Given the description of an element on the screen output the (x, y) to click on. 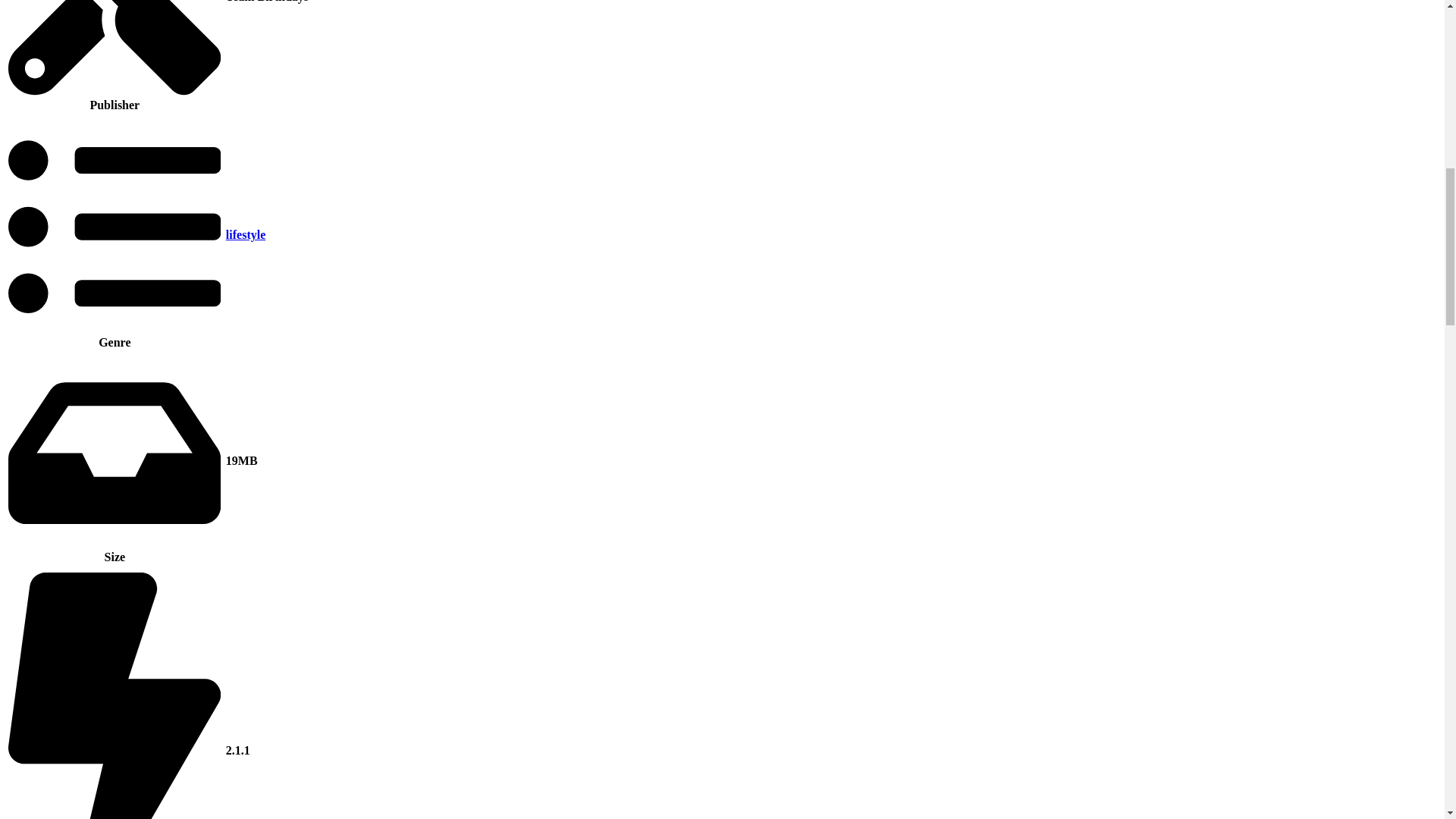
lifestyle (244, 234)
